Given the description of an element on the screen output the (x, y) to click on. 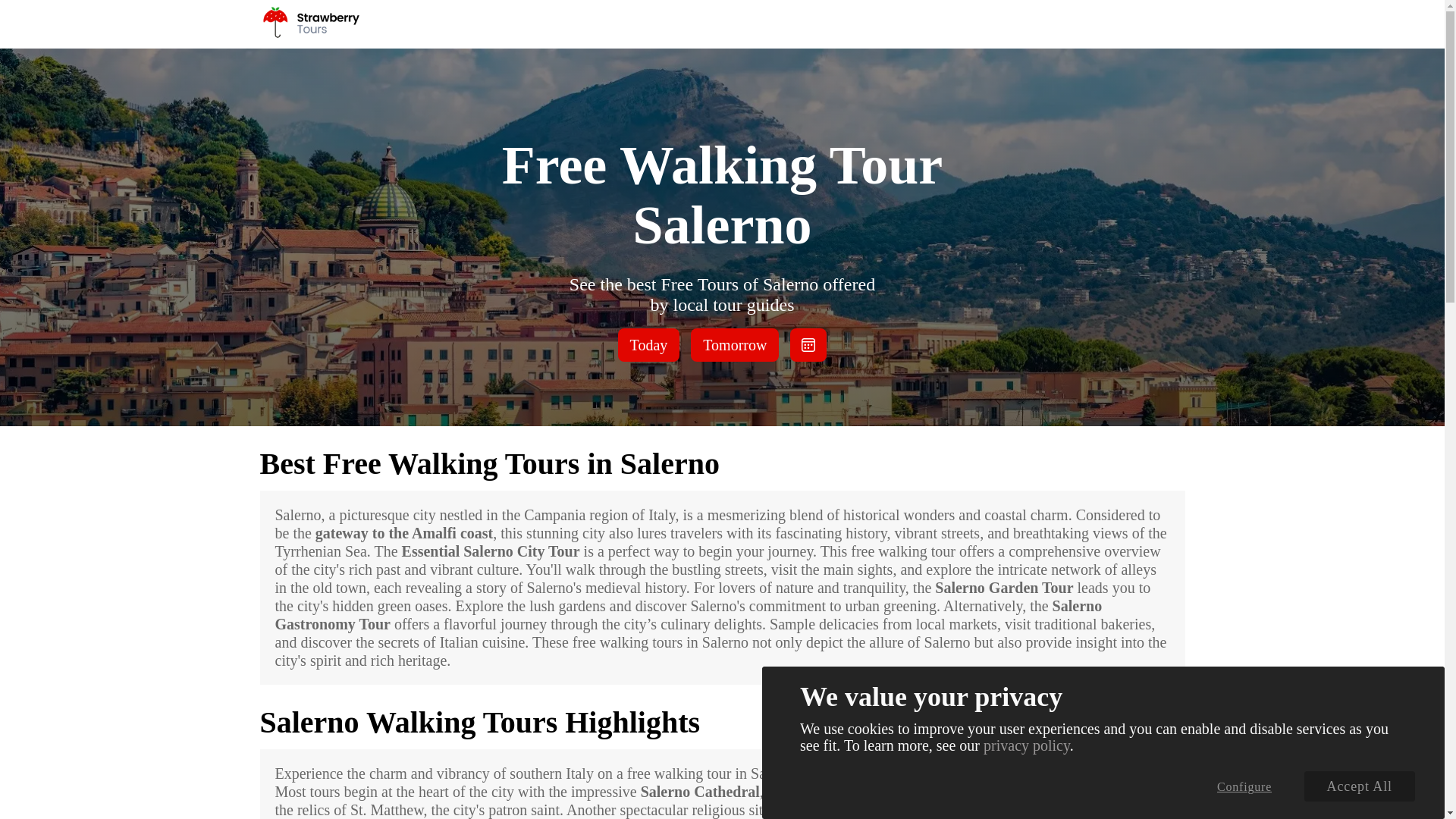
Accept All (1359, 786)
Tomorrow (734, 344)
Configure (1244, 786)
Today (648, 344)
privacy policy (1027, 745)
